Given the description of an element on the screen output the (x, y) to click on. 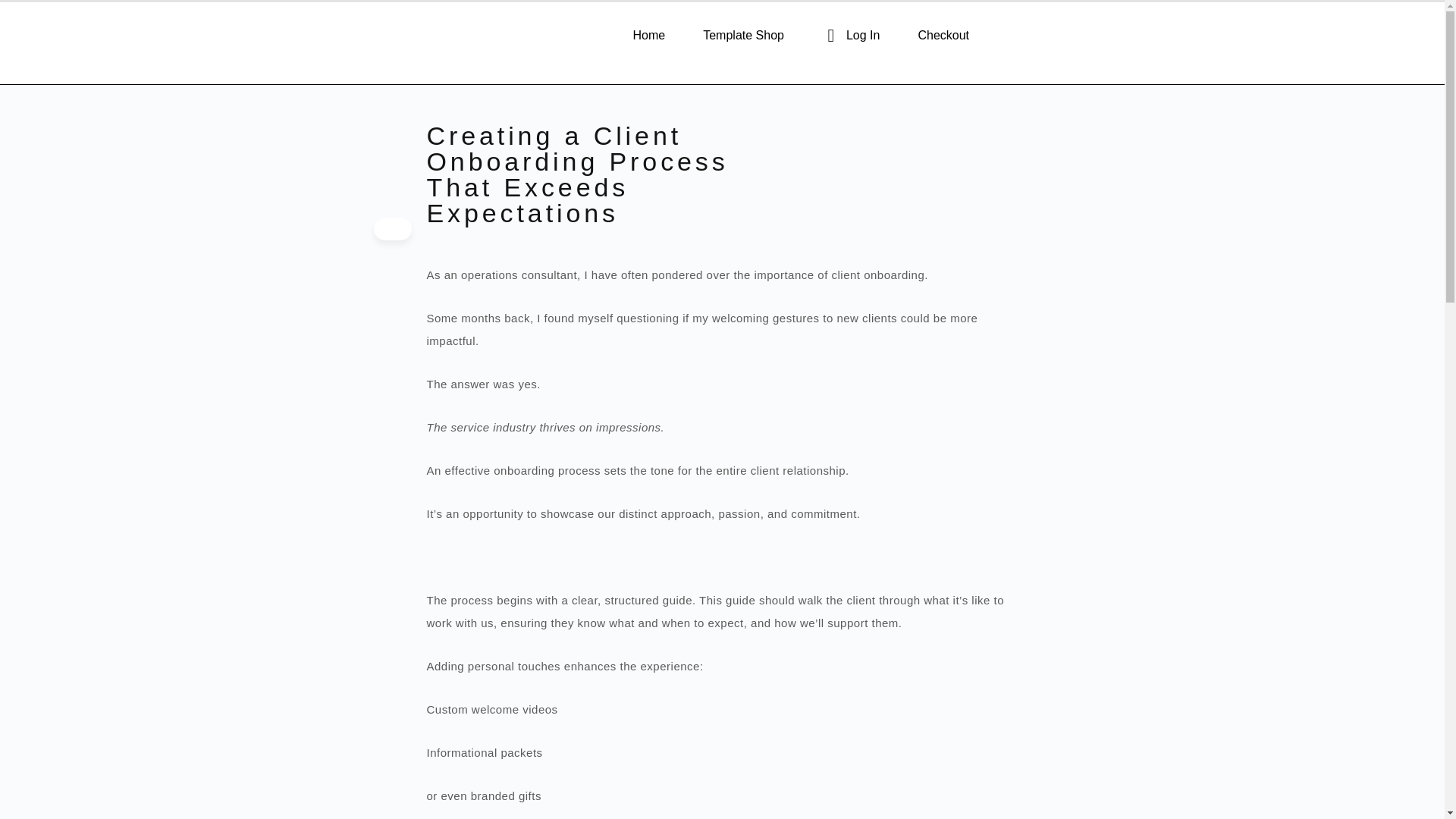
Home (649, 35)
Log In (850, 35)
Template Shop (743, 35)
Checkout (943, 35)
